Given the description of an element on the screen output the (x, y) to click on. 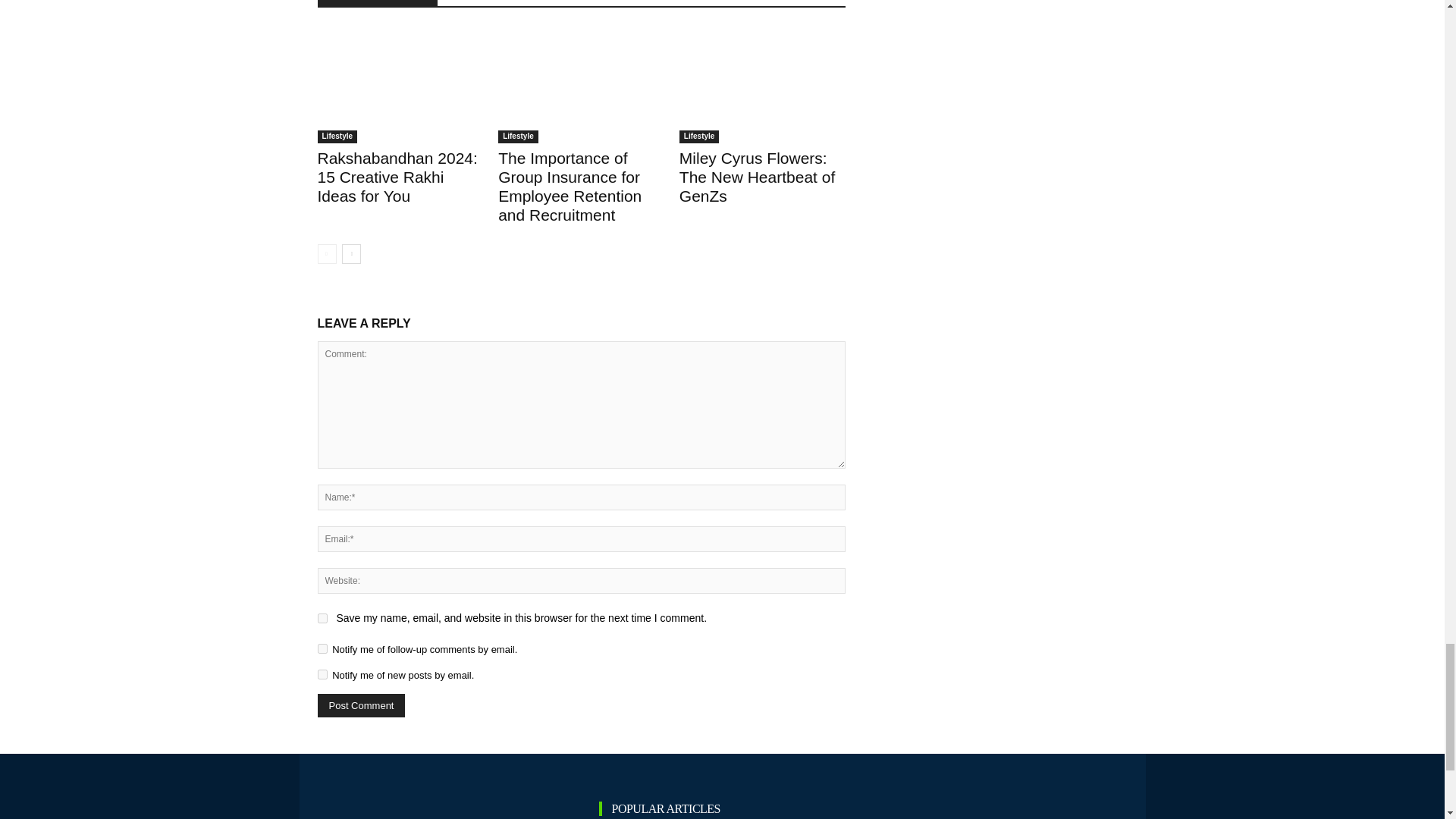
yes (321, 618)
Post Comment (360, 705)
subscribe (321, 648)
subscribe (321, 674)
